Given the description of an element on the screen output the (x, y) to click on. 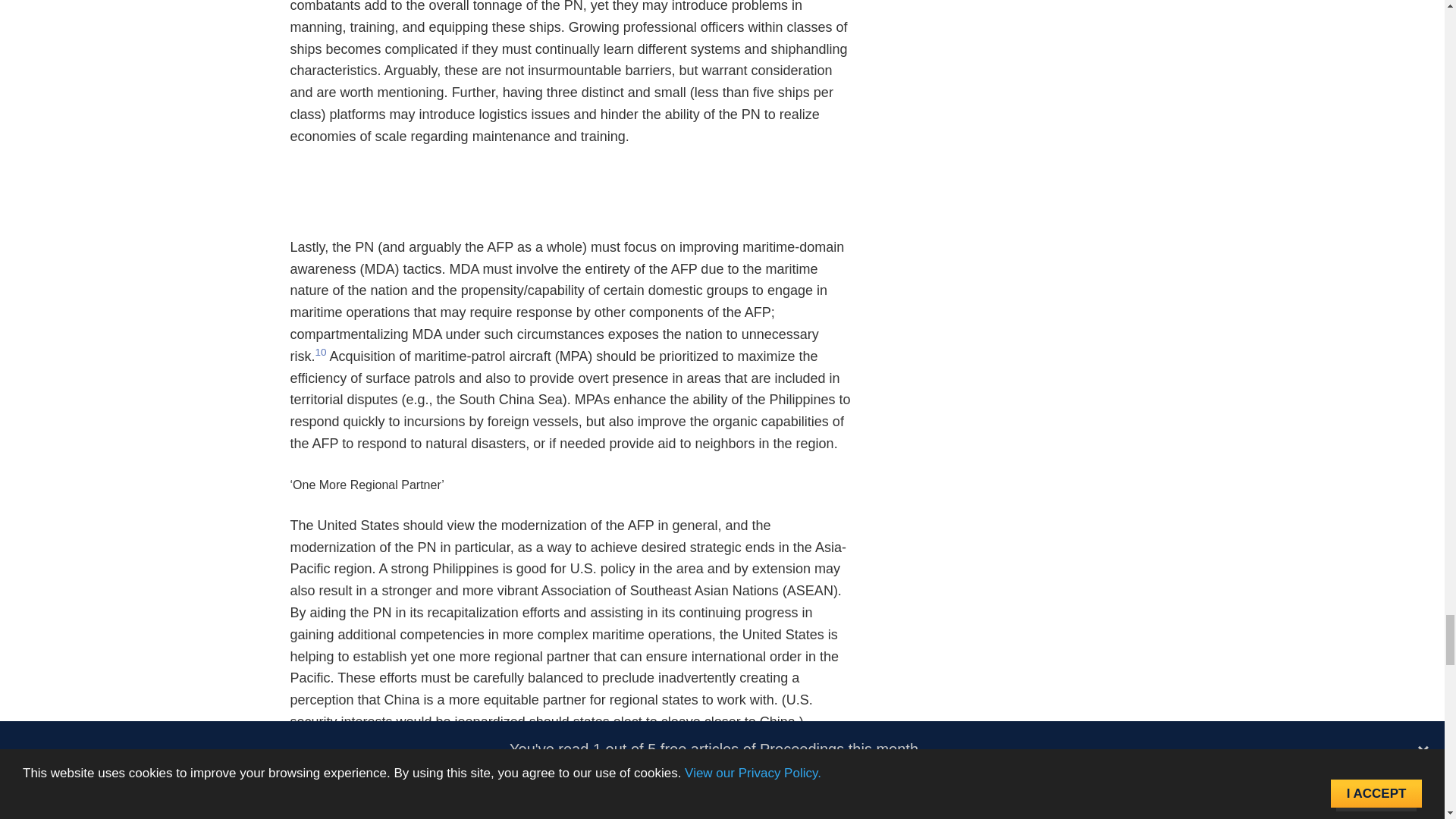
3rd party ad content (574, 201)
